Given the description of an element on the screen output the (x, y) to click on. 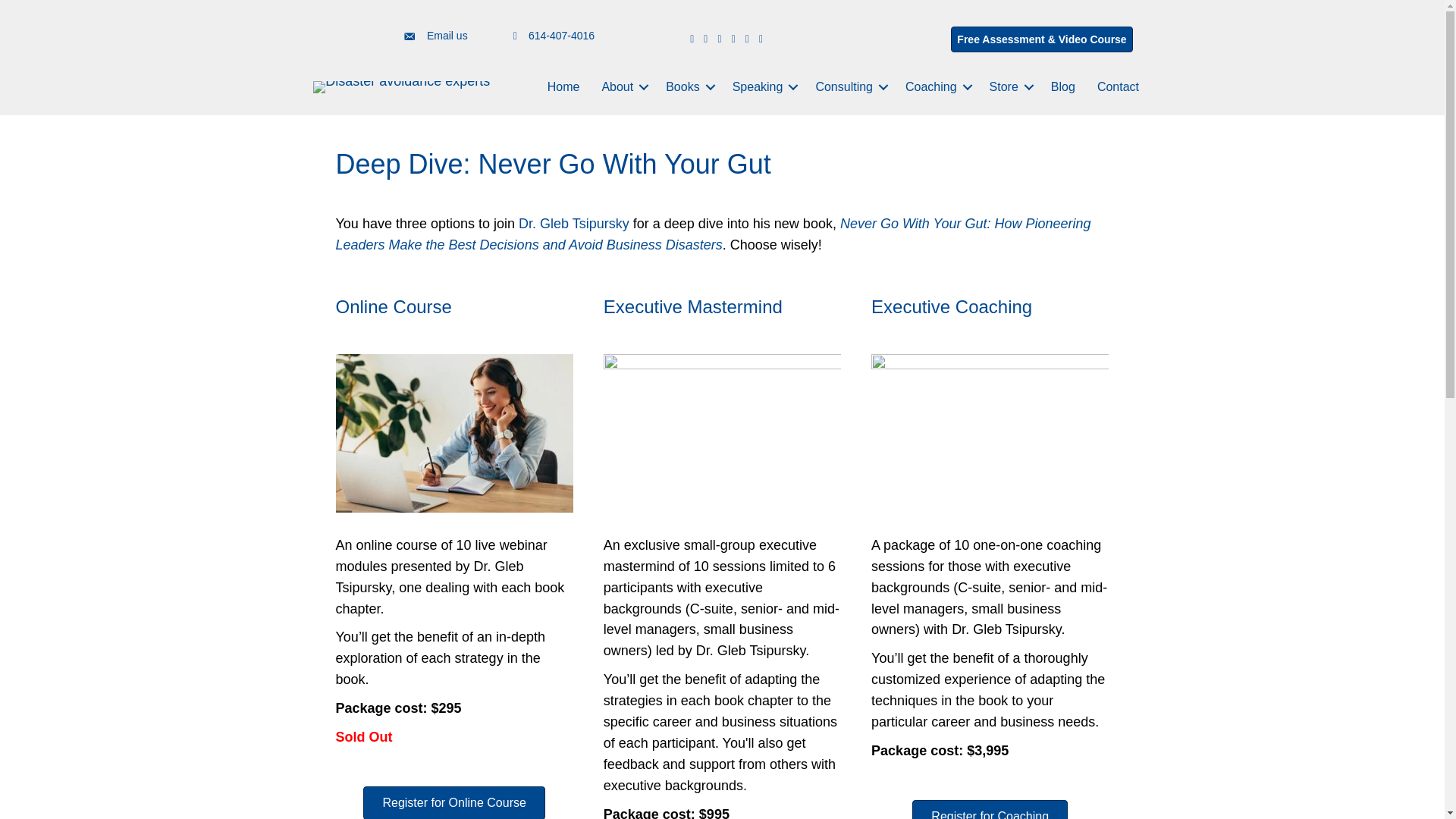
About (622, 87)
Speaking (763, 87)
Executive Coaching (951, 306)
Executive Mastermind (693, 306)
Coaching (936, 87)
Email us (446, 36)
Books (687, 87)
Home (564, 87)
Online Course (392, 306)
Consulting (849, 87)
